Given the description of an element on the screen output the (x, y) to click on. 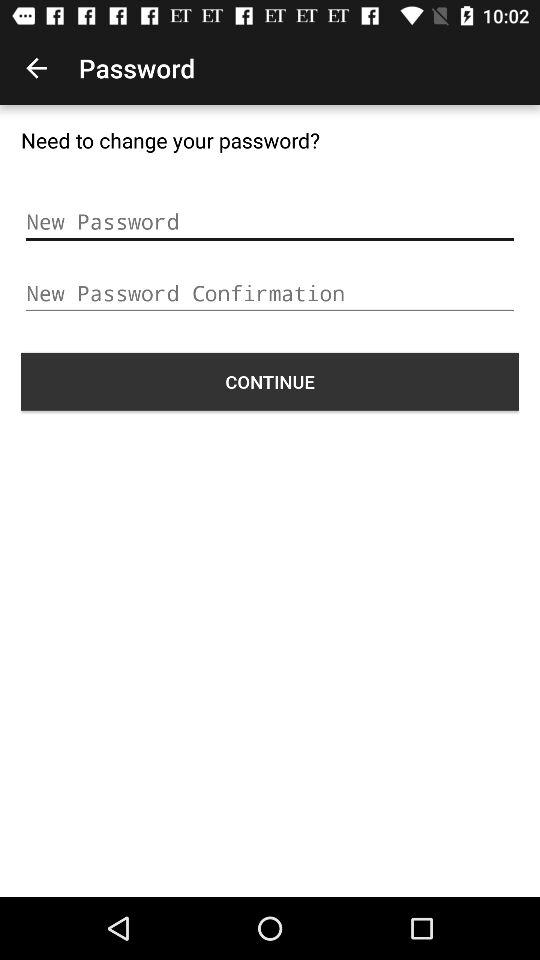
select item to the left of the password icon (36, 68)
